Given the description of an element on the screen output the (x, y) to click on. 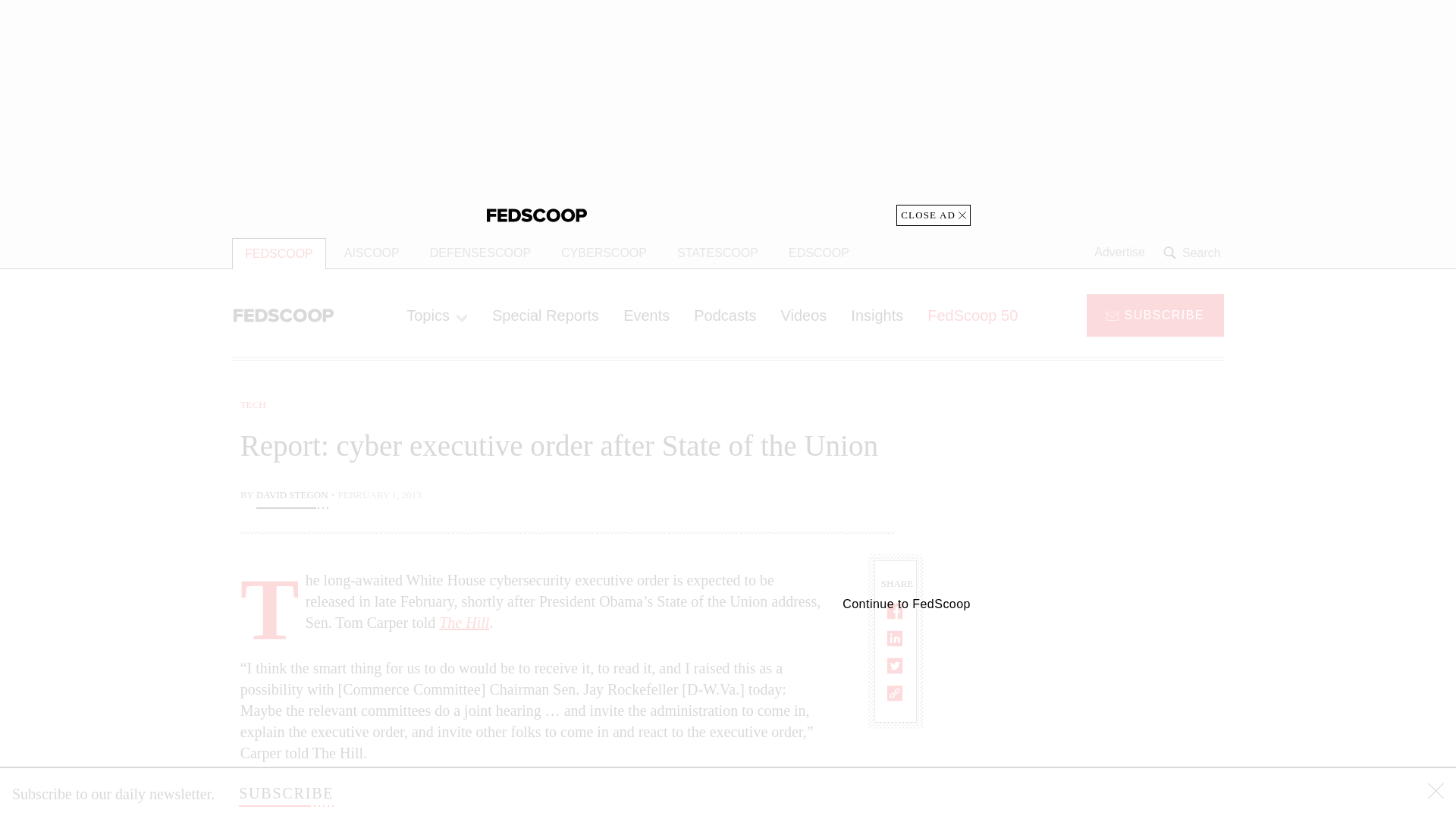
SUBSCRIBE (285, 793)
FEDSCOOP (278, 253)
FedScoop 50 (972, 315)
Advertise (1119, 252)
Videos (804, 315)
Insights (876, 315)
Special Reports (545, 315)
Search (1193, 252)
CYBERSCOOP (603, 253)
DAVID STEGON (292, 496)
